Given the description of an element on the screen output the (x, y) to click on. 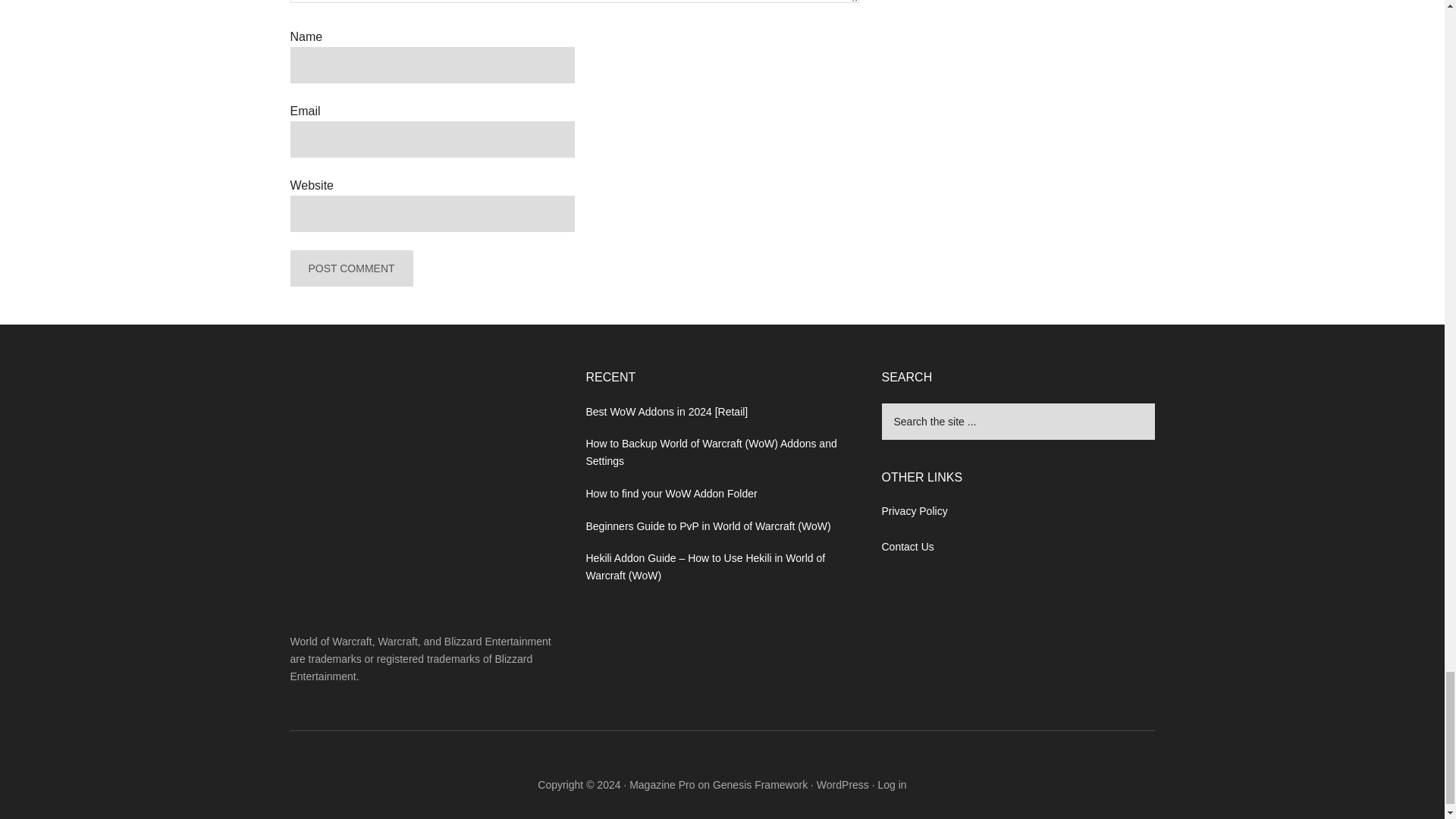
Post Comment (350, 268)
